Given the description of an element on the screen output the (x, y) to click on. 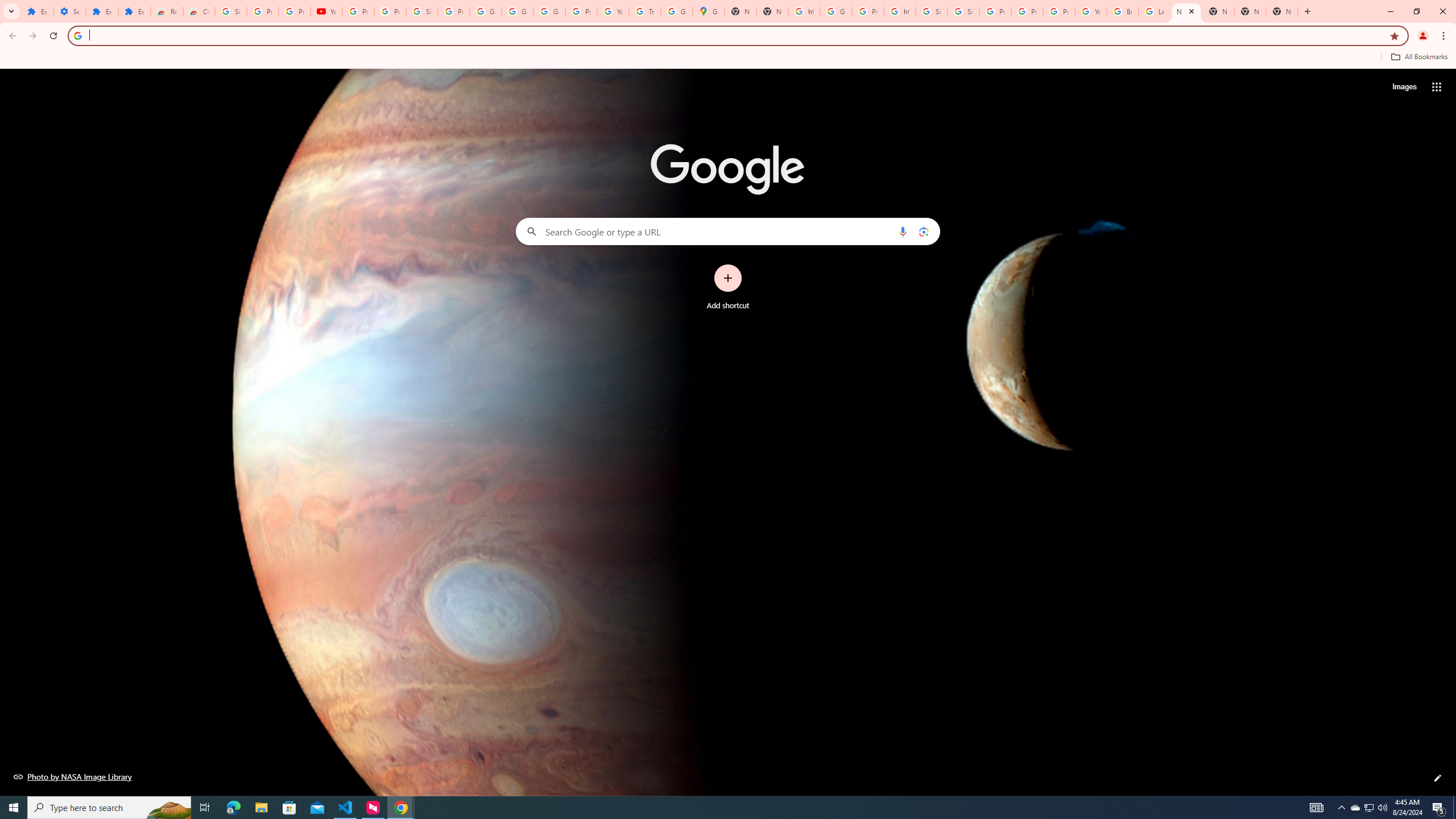
YouTube (326, 11)
